Given the description of an element on the screen output the (x, y) to click on. 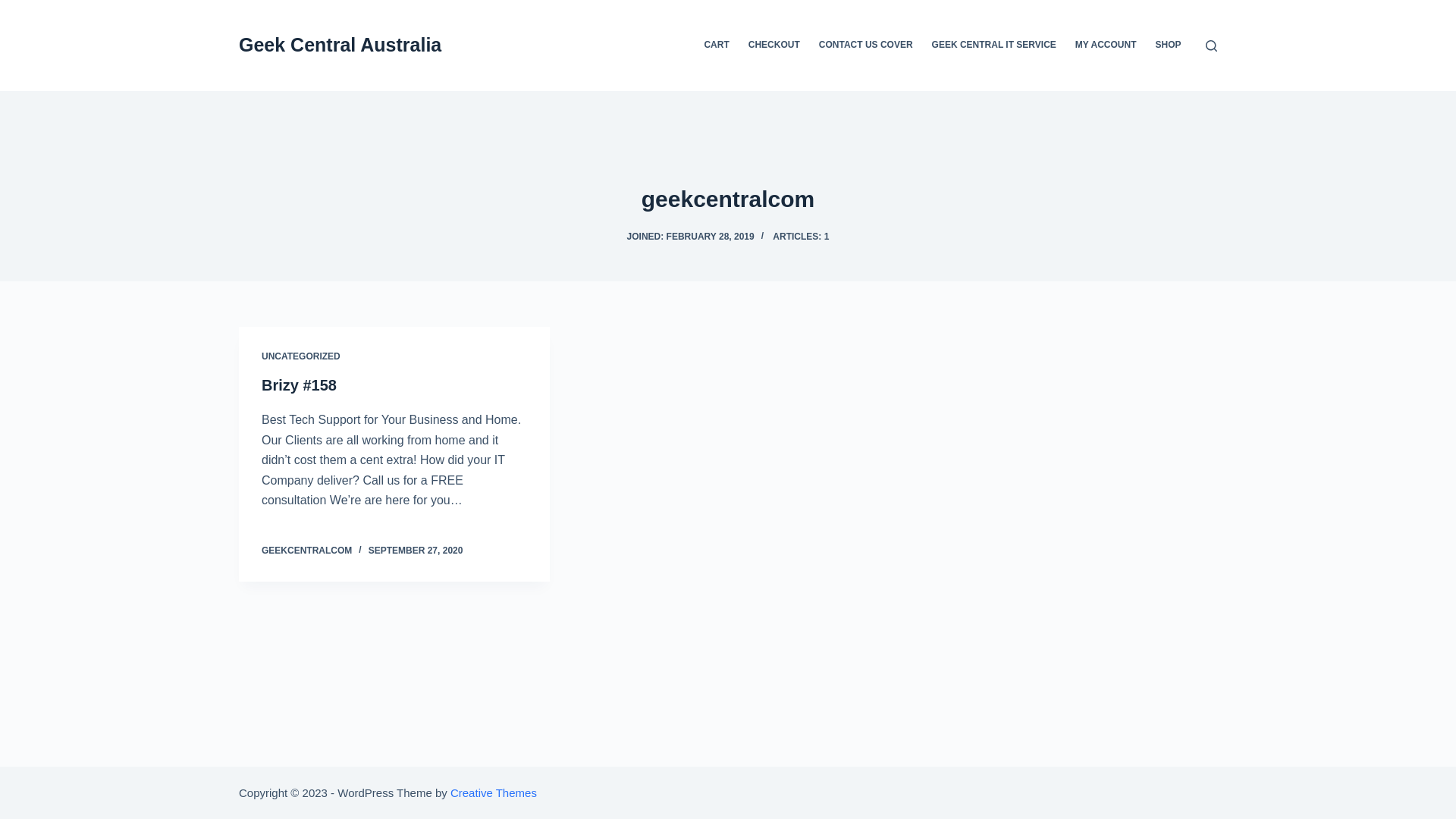
GEEKCENTRALCOM Element type: text (306, 550)
CHECKOUT Element type: text (773, 45)
Creative Themes Element type: text (493, 791)
Skip to content Element type: text (15, 7)
Geek Central Australia Element type: text (339, 44)
CART Element type: text (716, 45)
GEEK CENTRAL IT SERVICE Element type: text (993, 45)
CONTACT US COVER Element type: text (865, 45)
SHOP Element type: text (1167, 45)
Brizy #158 Element type: text (298, 384)
MY ACCOUNT Element type: text (1105, 45)
UNCATEGORIZED Element type: text (300, 356)
